Given the description of an element on the screen output the (x, y) to click on. 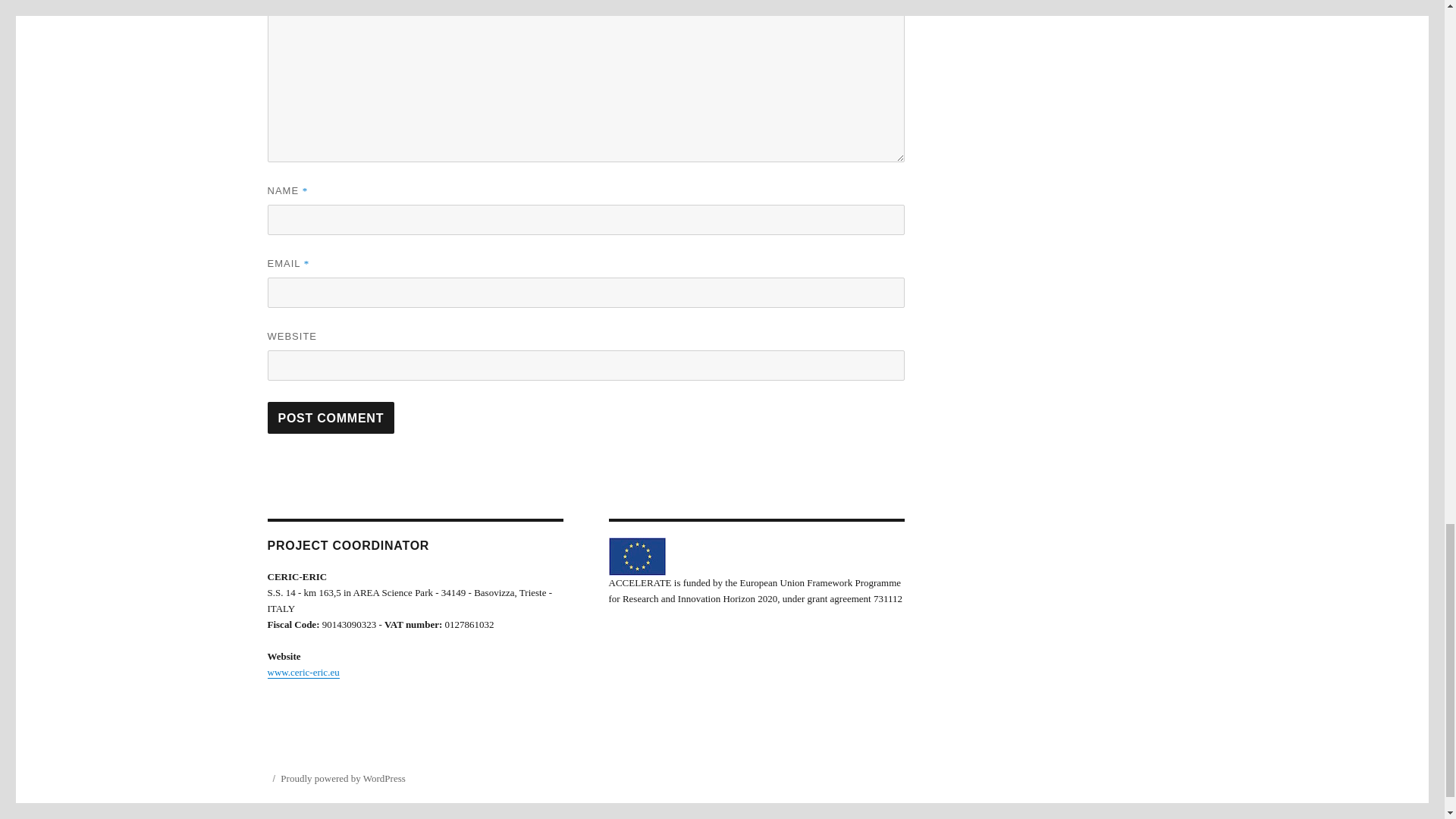
www.ceric-eric.eu (302, 672)
Post Comment (330, 418)
Post Comment (330, 418)
